Given the description of an element on the screen output the (x, y) to click on. 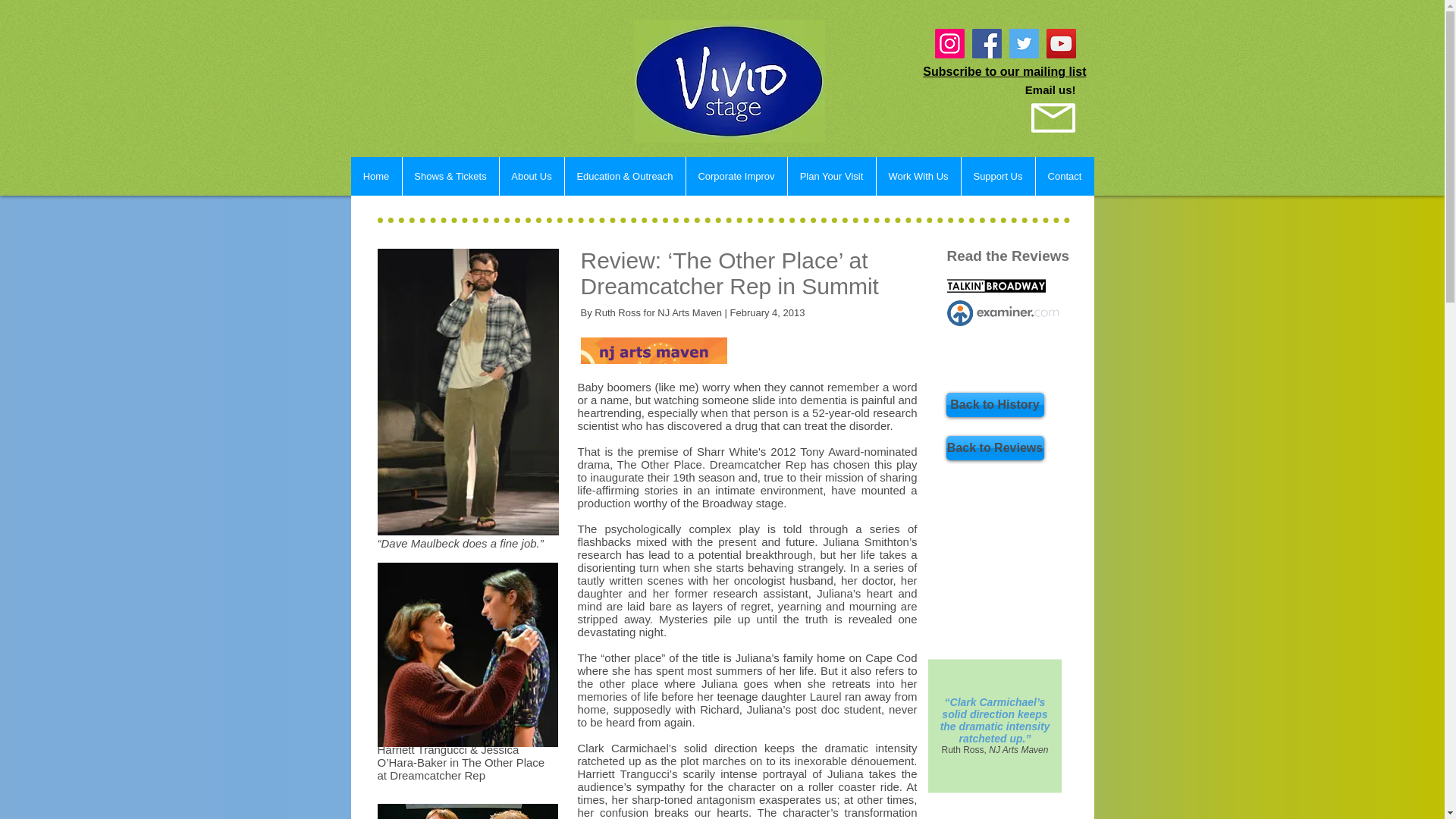
Read review (1002, 312)
2013i-prod-15.jpg (467, 653)
Home (375, 176)
Read review (995, 285)
2013i-prod-14.jpg (467, 811)
Subscribe to our mailing list (1004, 71)
Dave Maulbeck  (468, 391)
Corporate Improv (736, 176)
Vivid Stage formerly known as Dreamcatcher Repertory Theatre (729, 80)
NJ Arts Maven  (653, 350)
